Given the description of an element on the screen output the (x, y) to click on. 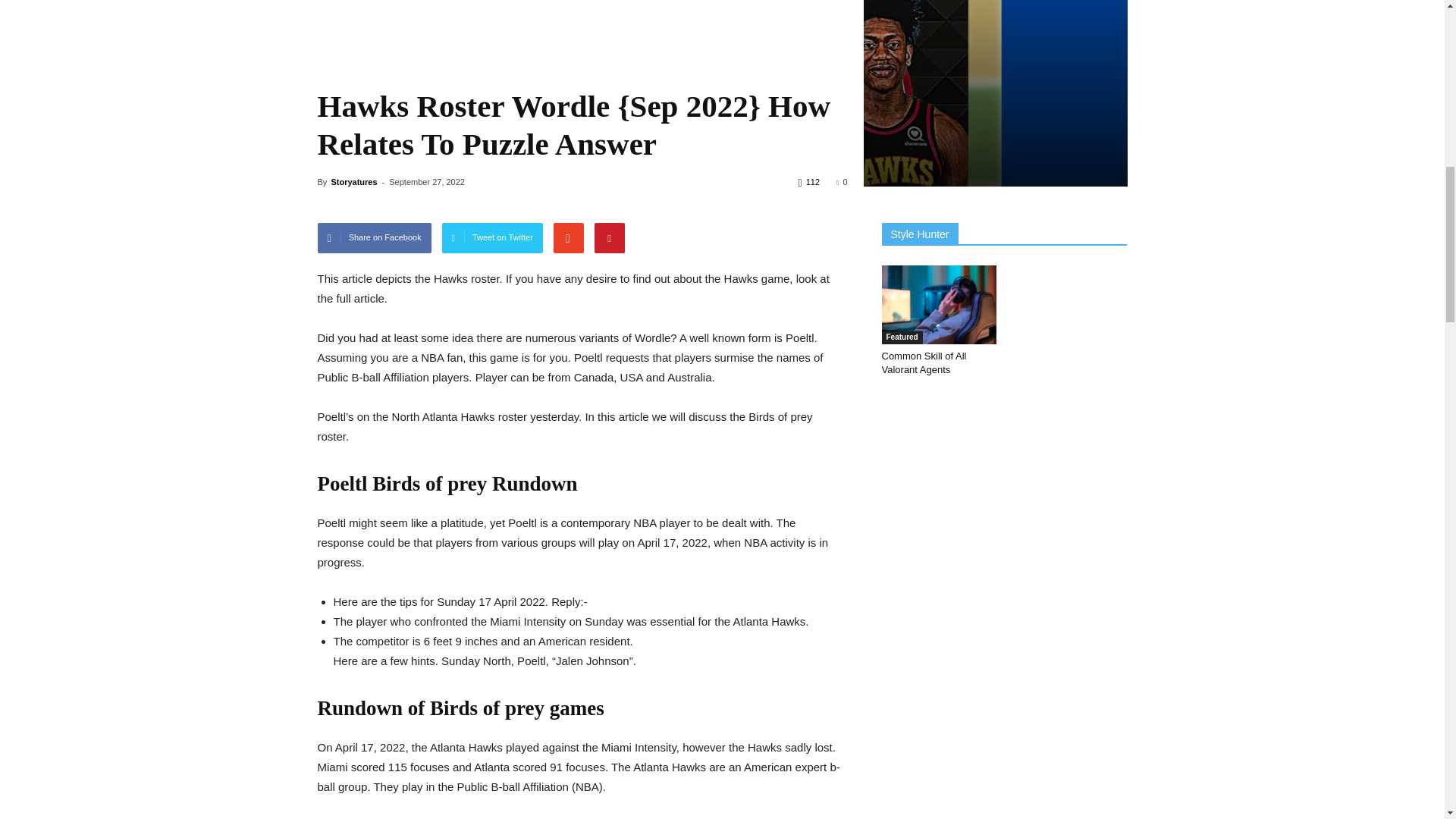
Advertisement (582, 39)
